Given the description of an element on the screen output the (x, y) to click on. 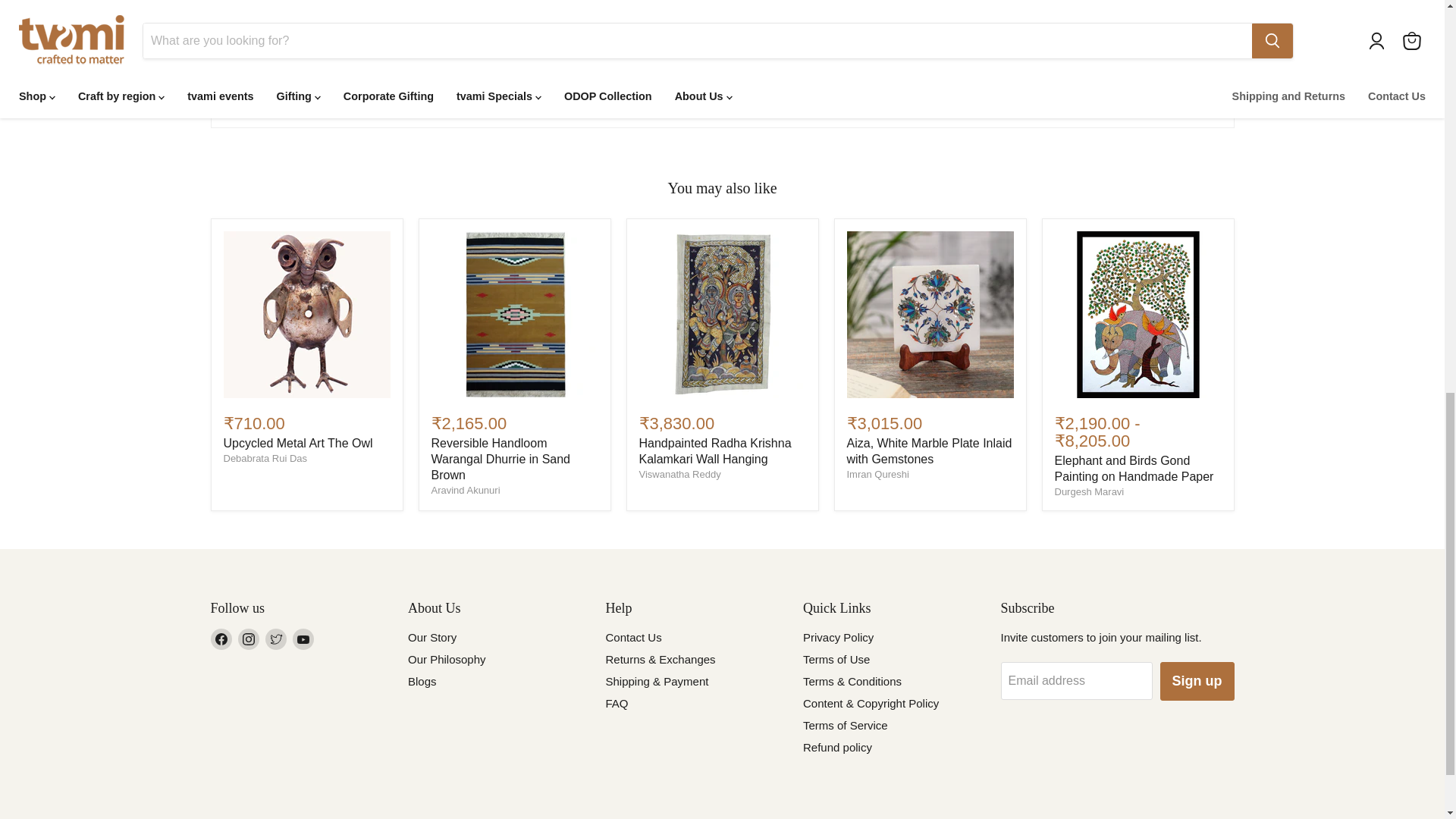
Instagram (248, 639)
YouTube (303, 639)
Twitter (275, 639)
Debabrata Rui Das (264, 458)
Imran Qureshi (876, 473)
Aravind Akunuri (464, 490)
Durgesh Maravi (1089, 491)
Viswanatha Reddy (679, 473)
Facebook (221, 639)
